Given the description of an element on the screen output the (x, y) to click on. 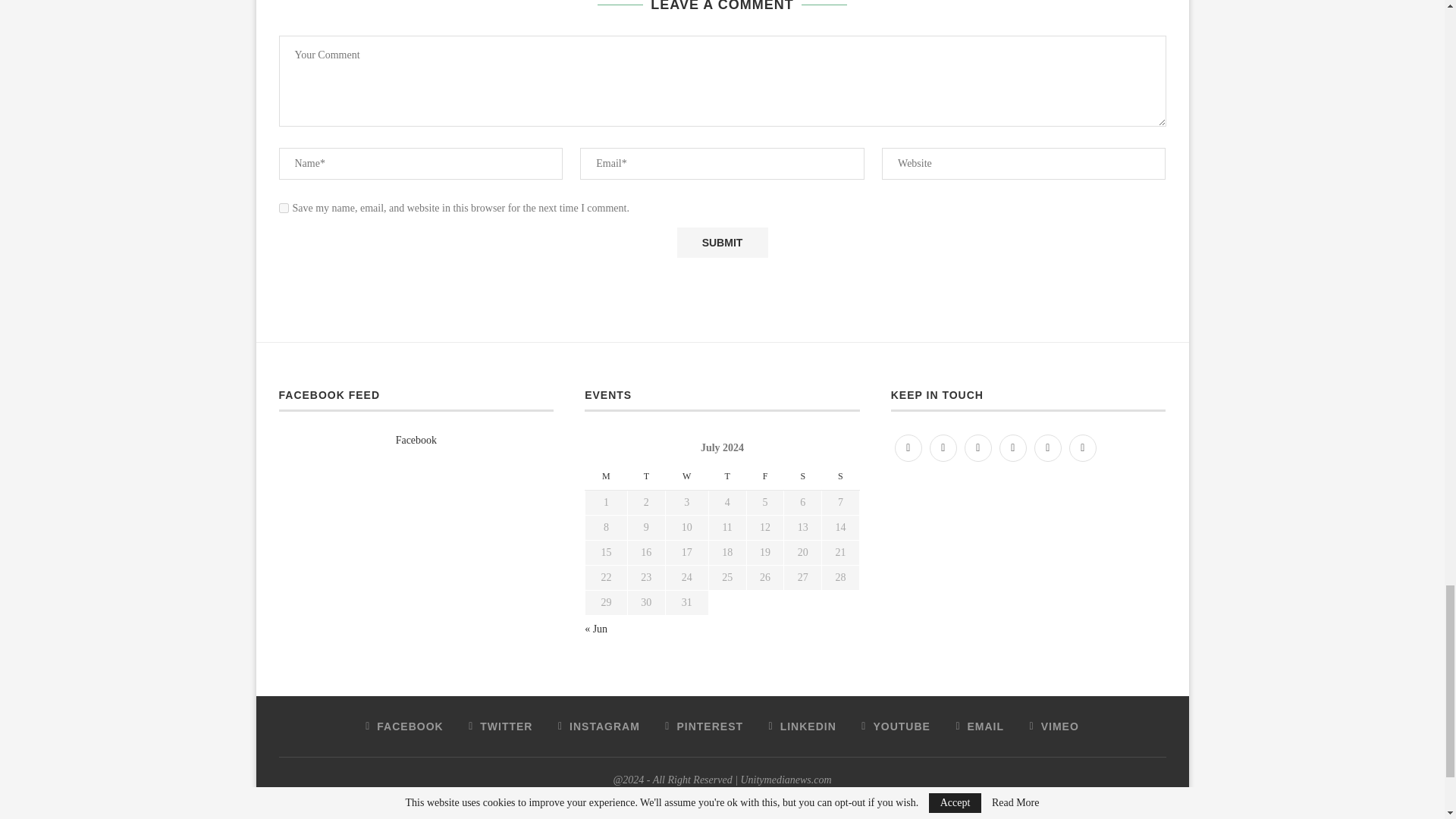
Submit (722, 242)
yes (283, 207)
